Given the description of an element on the screen output the (x, y) to click on. 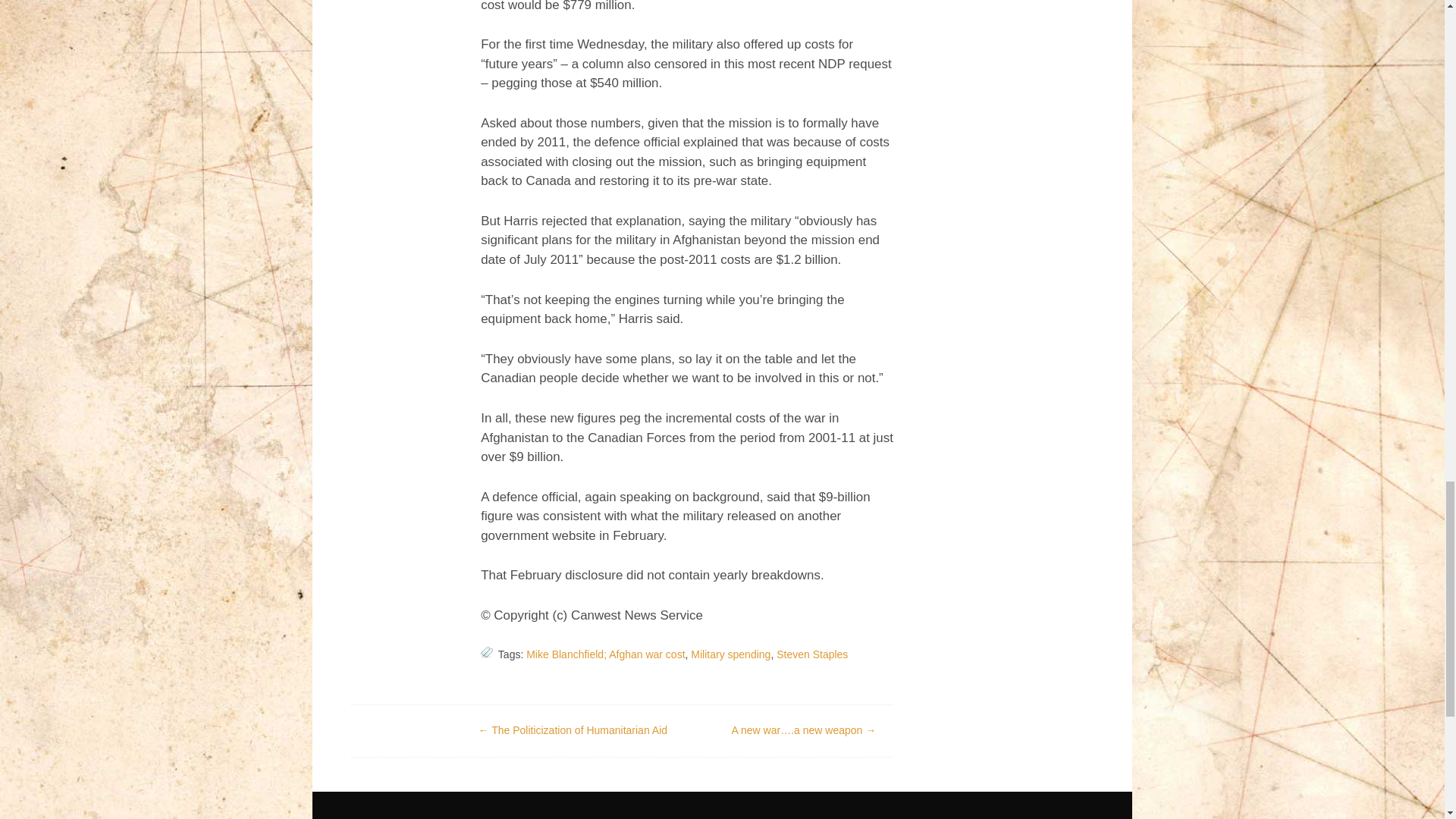
Military spending (730, 654)
Steven Staples (811, 654)
Mike Blanchfield; Afghan war cost (604, 654)
